Given the description of an element on the screen output the (x, y) to click on. 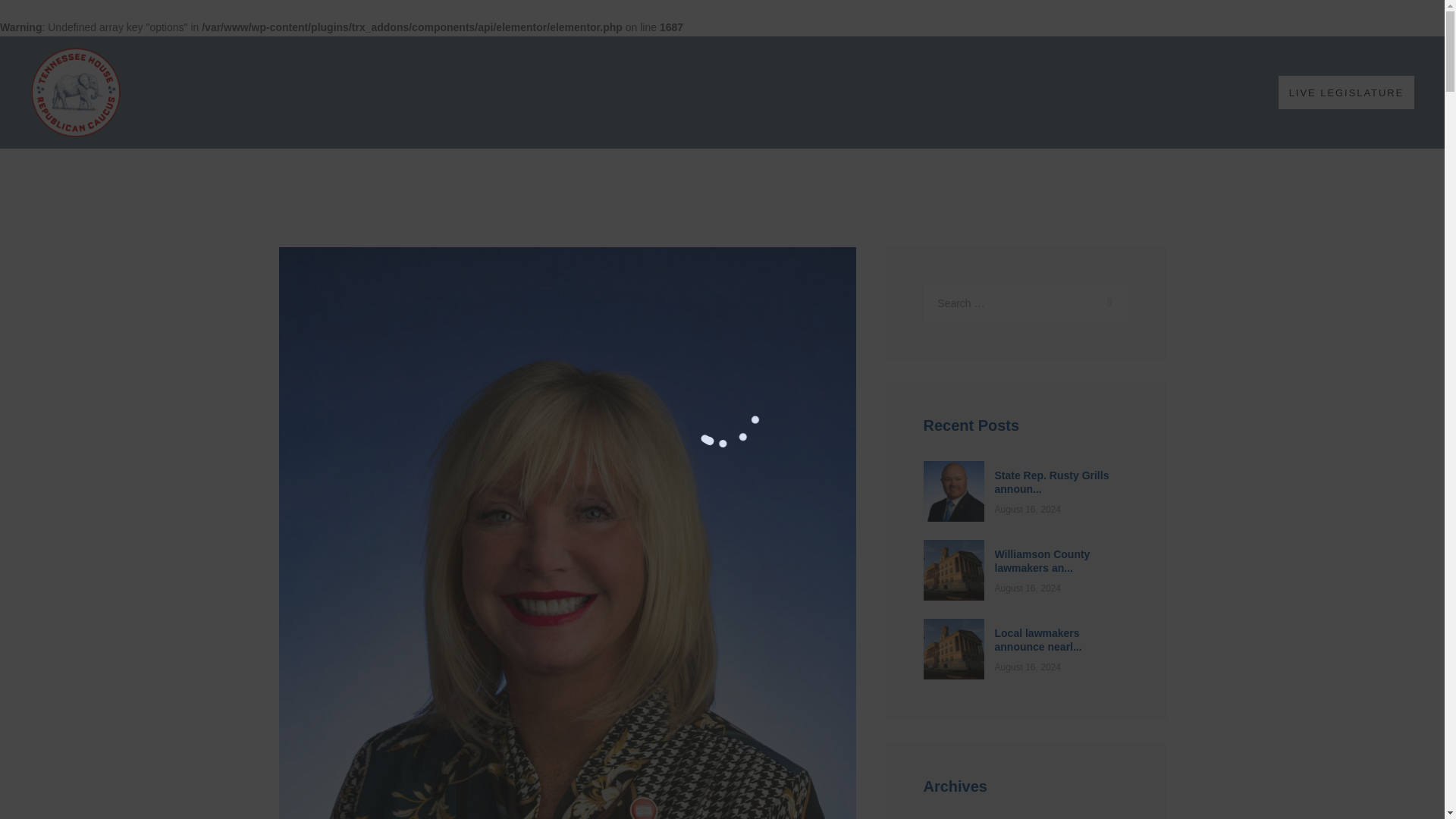
Search (1108, 303)
LIVE LEGISLATURE (1345, 92)
Search (1108, 303)
